Given the description of an element on the screen output the (x, y) to click on. 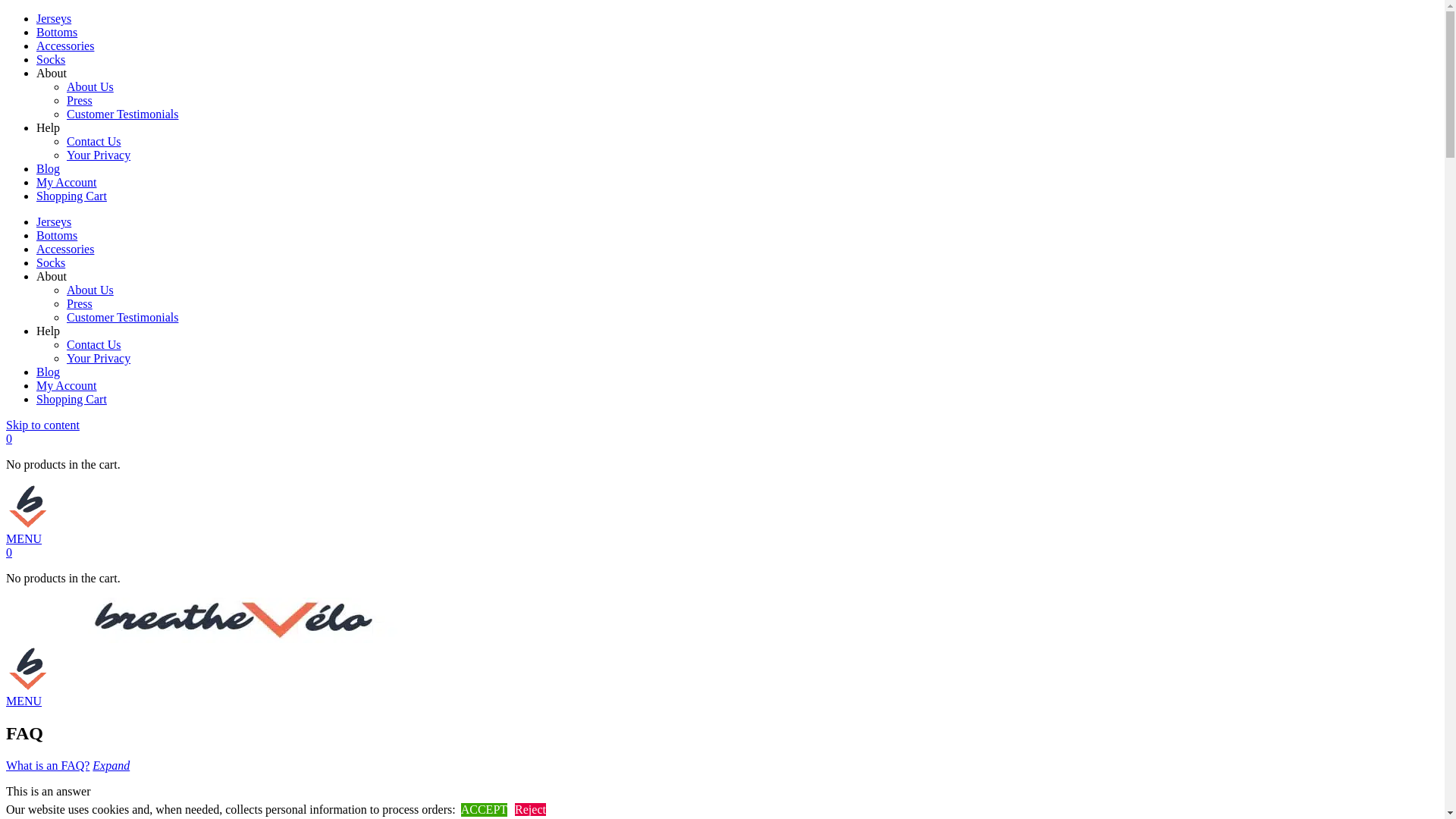
Bottoms Element type: text (56, 235)
Shopping Cart Element type: text (71, 398)
0 Element type: text (9, 438)
About Element type: text (51, 275)
About Us Element type: text (89, 86)
Socks Element type: text (50, 59)
schema-plublisher-logo Element type: hover (233, 620)
My Account Element type: text (66, 385)
breathe-velo-masthead-mobile Element type: hover (28, 506)
Press Element type: text (79, 303)
Accessories Element type: text (65, 45)
Your Privacy Element type: text (98, 357)
breathe-velo-masthead-mobile Element type: hover (28, 668)
Customer Testimonials Element type: text (122, 316)
Blog Element type: text (47, 371)
MENU Element type: text (23, 700)
0 Element type: text (9, 552)
Jerseys Element type: text (53, 18)
Help Element type: text (47, 330)
Press Element type: text (79, 100)
Help Element type: text (47, 127)
Jerseys Element type: text (53, 221)
About Element type: text (51, 72)
About Us Element type: text (89, 289)
Expand Element type: text (110, 765)
Contact Us Element type: text (93, 140)
Blog Element type: text (47, 168)
Reject Element type: text (530, 809)
My Account Element type: text (66, 181)
Skip to content Element type: text (42, 424)
Bottoms Element type: text (56, 31)
Contact Us Element type: text (93, 344)
Customer Testimonials Element type: text (122, 113)
Socks Element type: text (50, 262)
Accessories Element type: text (65, 248)
Your Privacy Element type: text (98, 154)
ACCEPT Element type: text (484, 809)
What is an FAQ? Element type: text (47, 765)
Shopping Cart Element type: text (71, 195)
MENU Element type: text (23, 538)
